Given the description of an element on the screen output the (x, y) to click on. 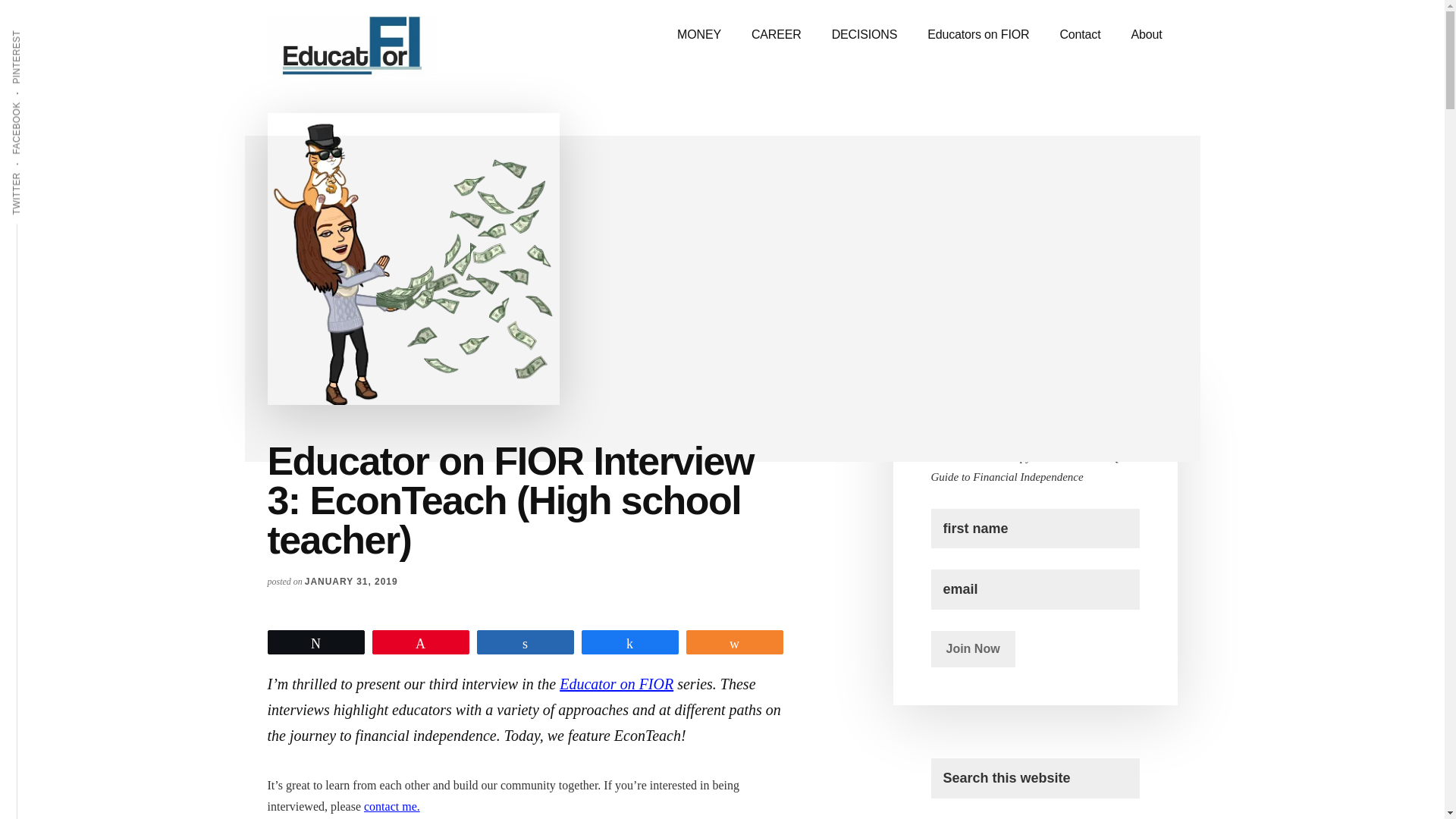
About (1145, 34)
PINTEREST (44, 28)
Educators on FIOR (977, 34)
Contact (1079, 34)
CAREER (776, 34)
DECISIONS (864, 34)
MONEY (699, 34)
Educator on FIOR (615, 683)
